Given the description of an element on the screen output the (x, y) to click on. 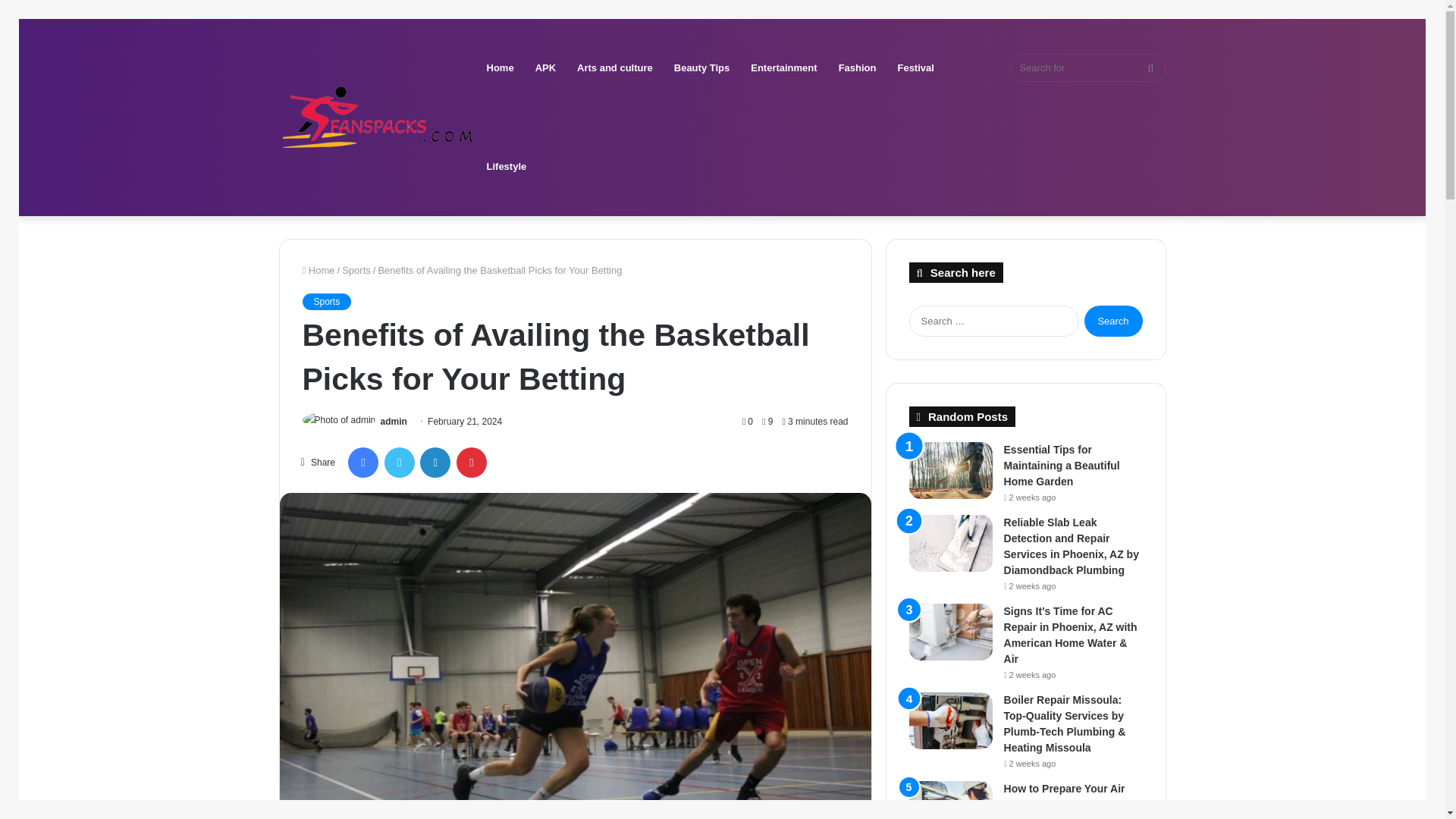
Facebook (362, 462)
Search for (1088, 67)
Search (1113, 320)
Sports (325, 301)
Sports (356, 270)
Facebook (362, 462)
admin (393, 421)
LinkedIn (434, 462)
Pinterest (471, 462)
LinkedIn (434, 462)
Search (1113, 320)
Home (317, 270)
Arts and culture (614, 67)
admin (393, 421)
fanspacks.com (377, 117)
